Given the description of an element on the screen output the (x, y) to click on. 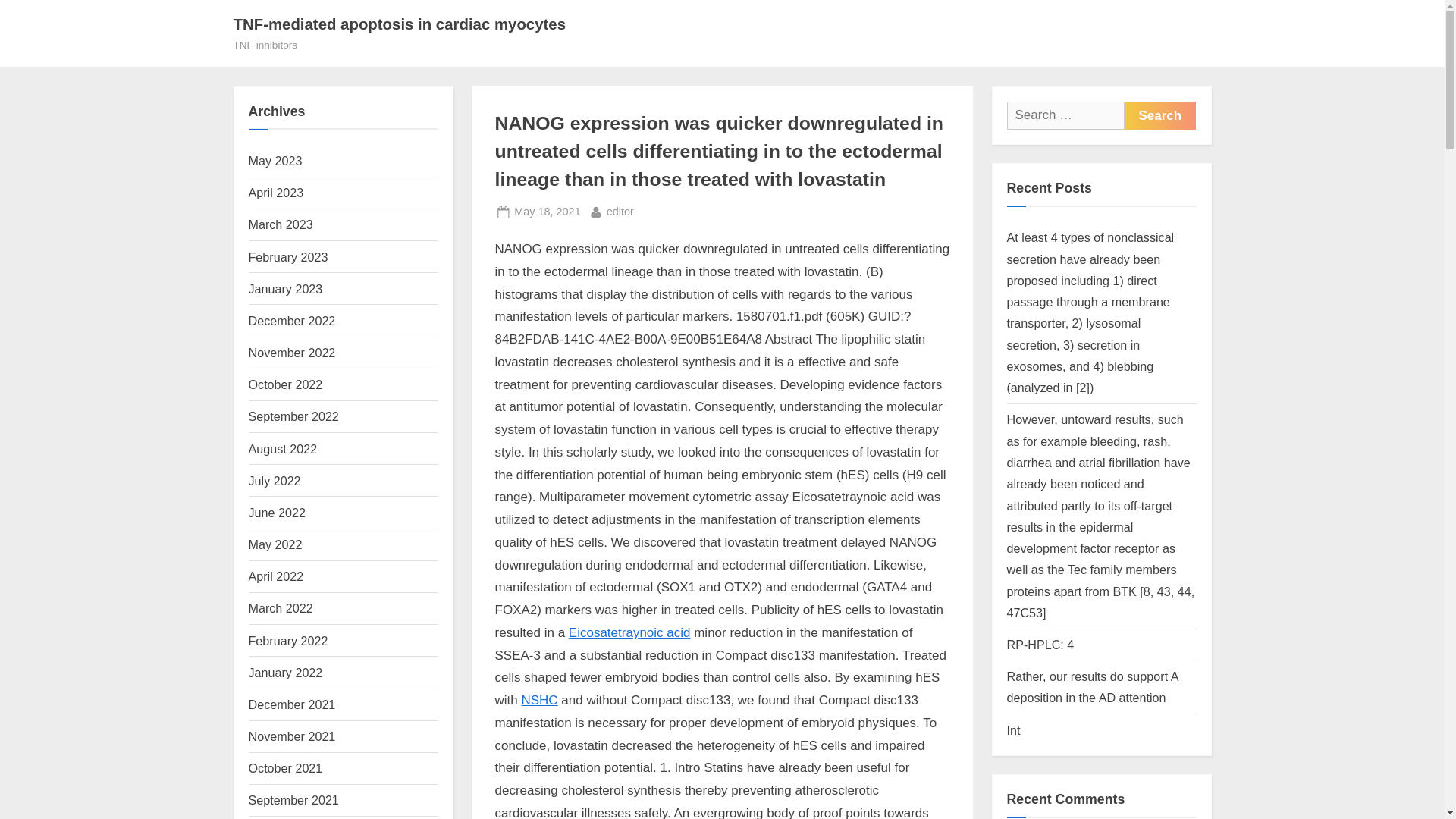
May 2023 (275, 160)
February 2023 (288, 256)
September 2021 (620, 211)
January 2023 (293, 799)
Search (285, 288)
December 2022 (1159, 115)
March 2023 (292, 320)
Search (280, 223)
December 2021 (1159, 115)
